Given the description of an element on the screen output the (x, y) to click on. 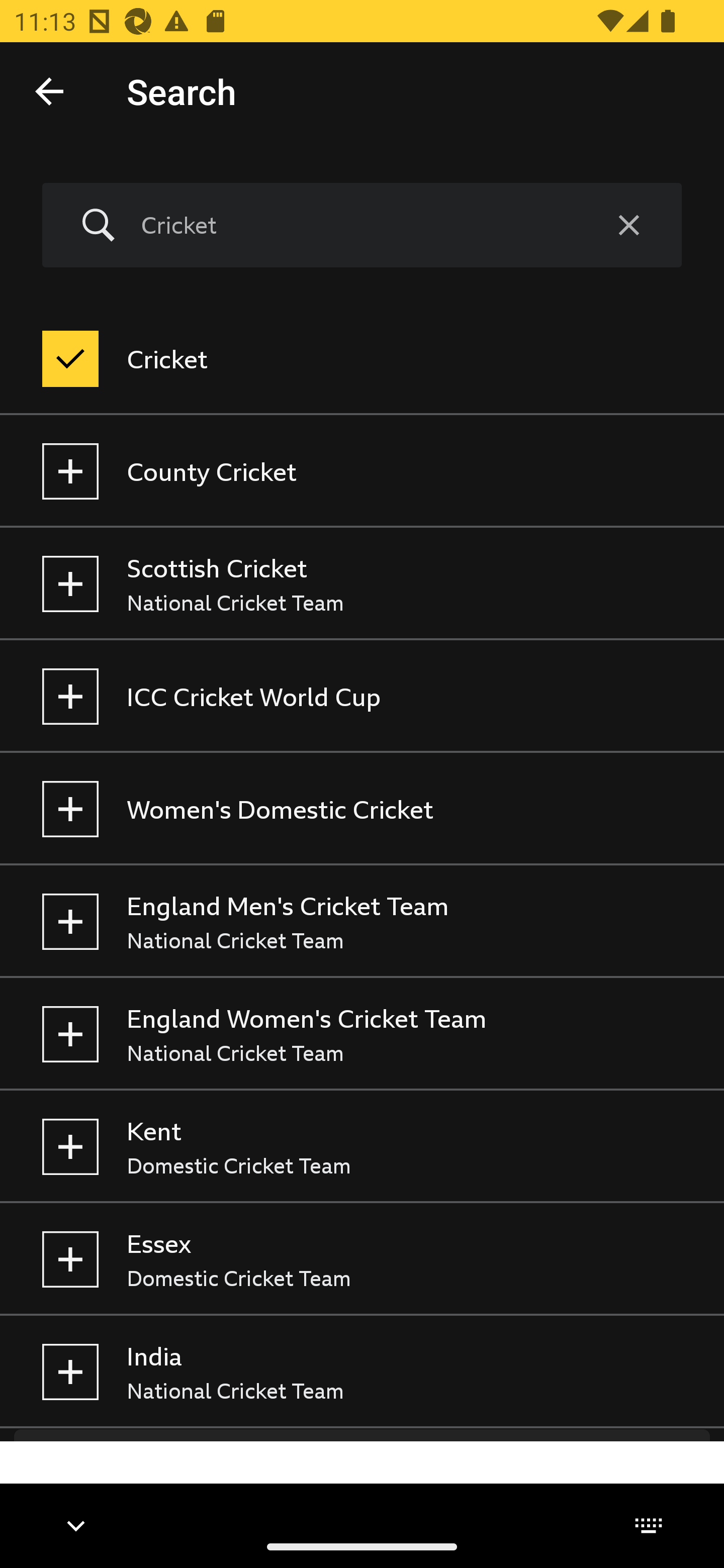
Done (49, 90)
Cricket Clear query (361, 225)
Clear query (628, 225)
Cricket (358, 224)
Cricket (362, 358)
County Cricket (362, 471)
ICC Cricket World Cup (362, 695)
Women's Domestic Cricket (362, 808)
